Given the description of an element on the screen output the (x, y) to click on. 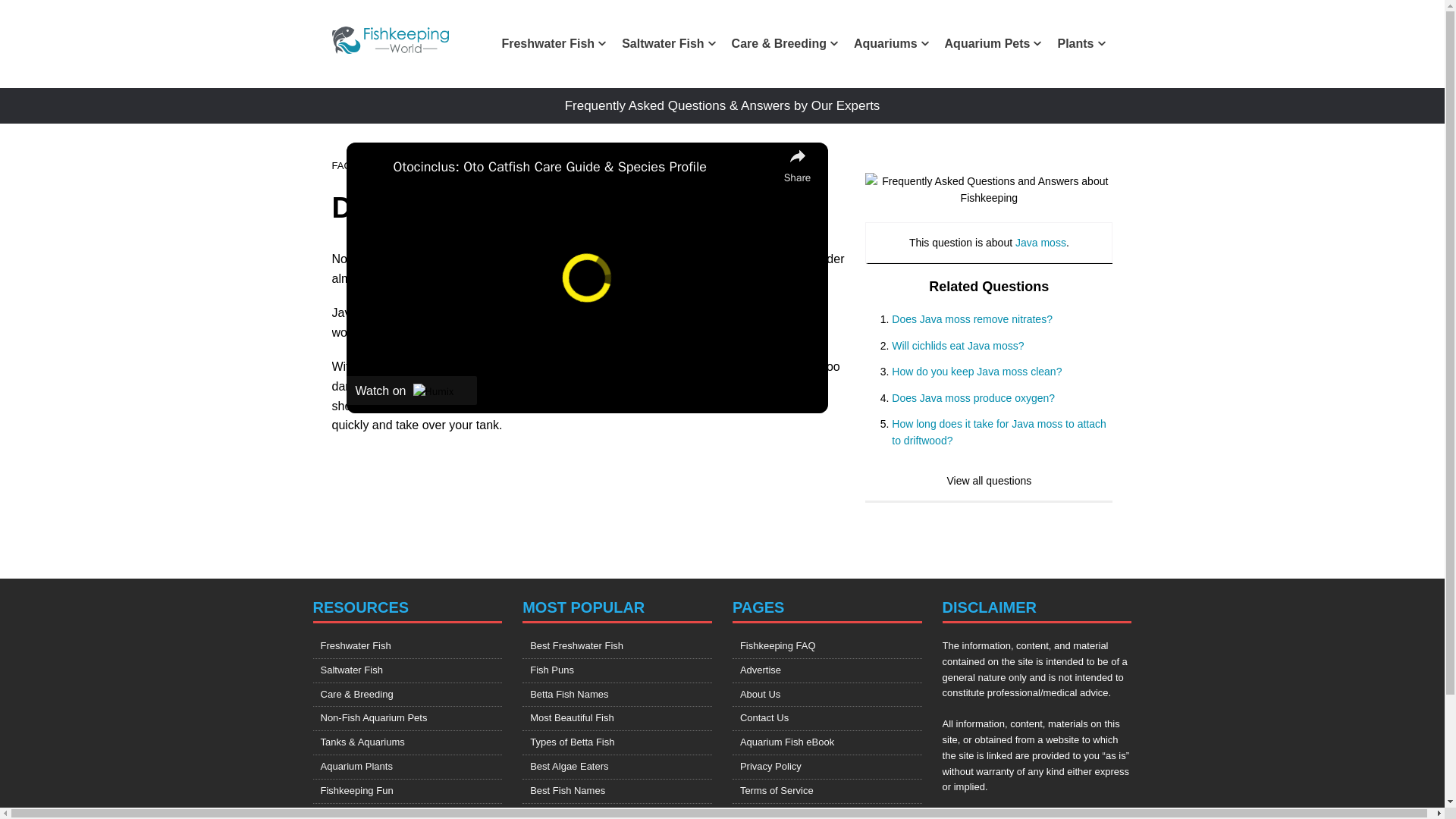
Freshwater Fish (552, 44)
Aquariums (890, 44)
Saltwater Fish (667, 44)
